Given the description of an element on the screen output the (x, y) to click on. 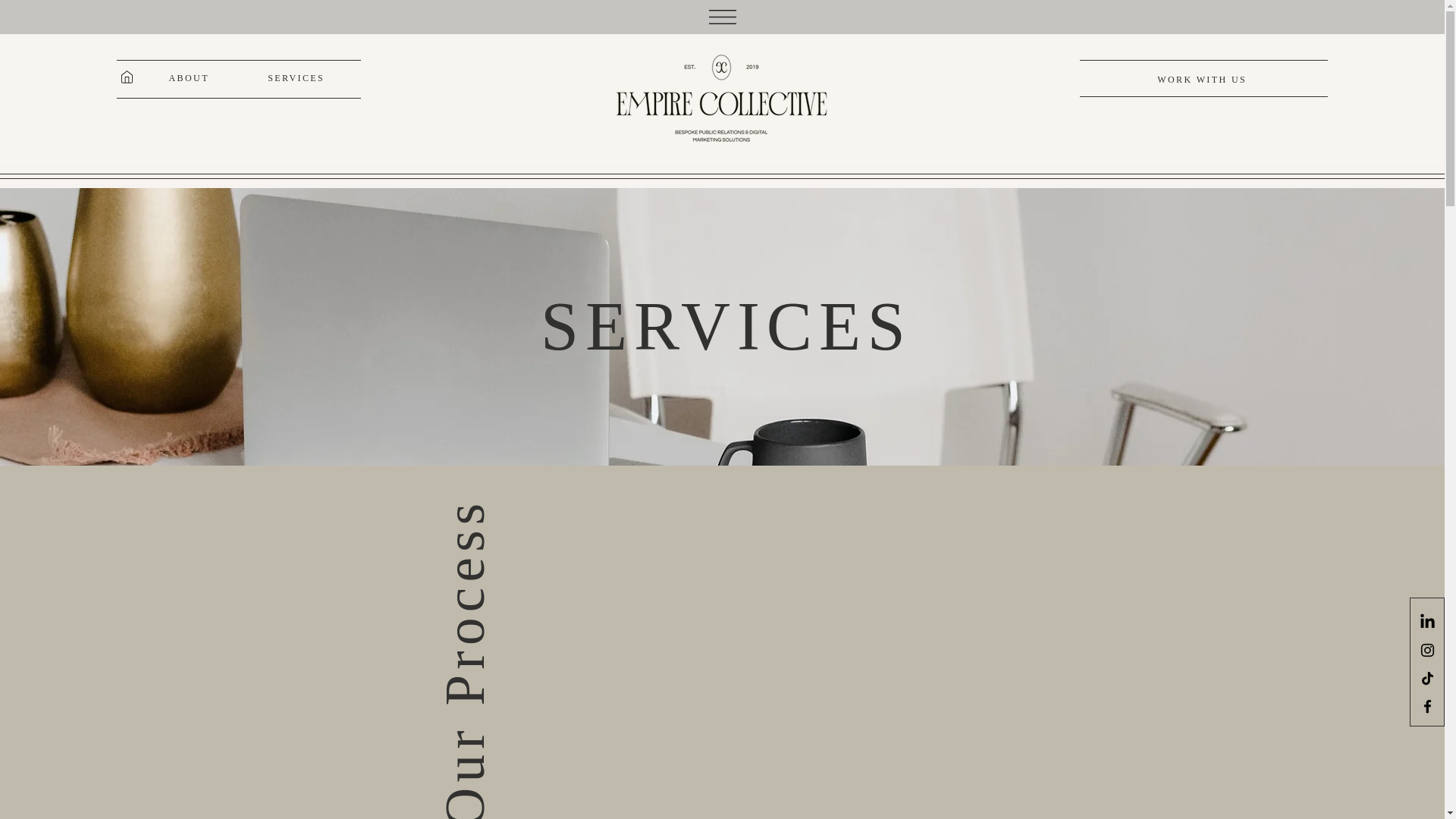
ABOUT (188, 78)
WORK WITH US (1203, 79)
SERVICES (295, 78)
